Given the description of an element on the screen output the (x, y) to click on. 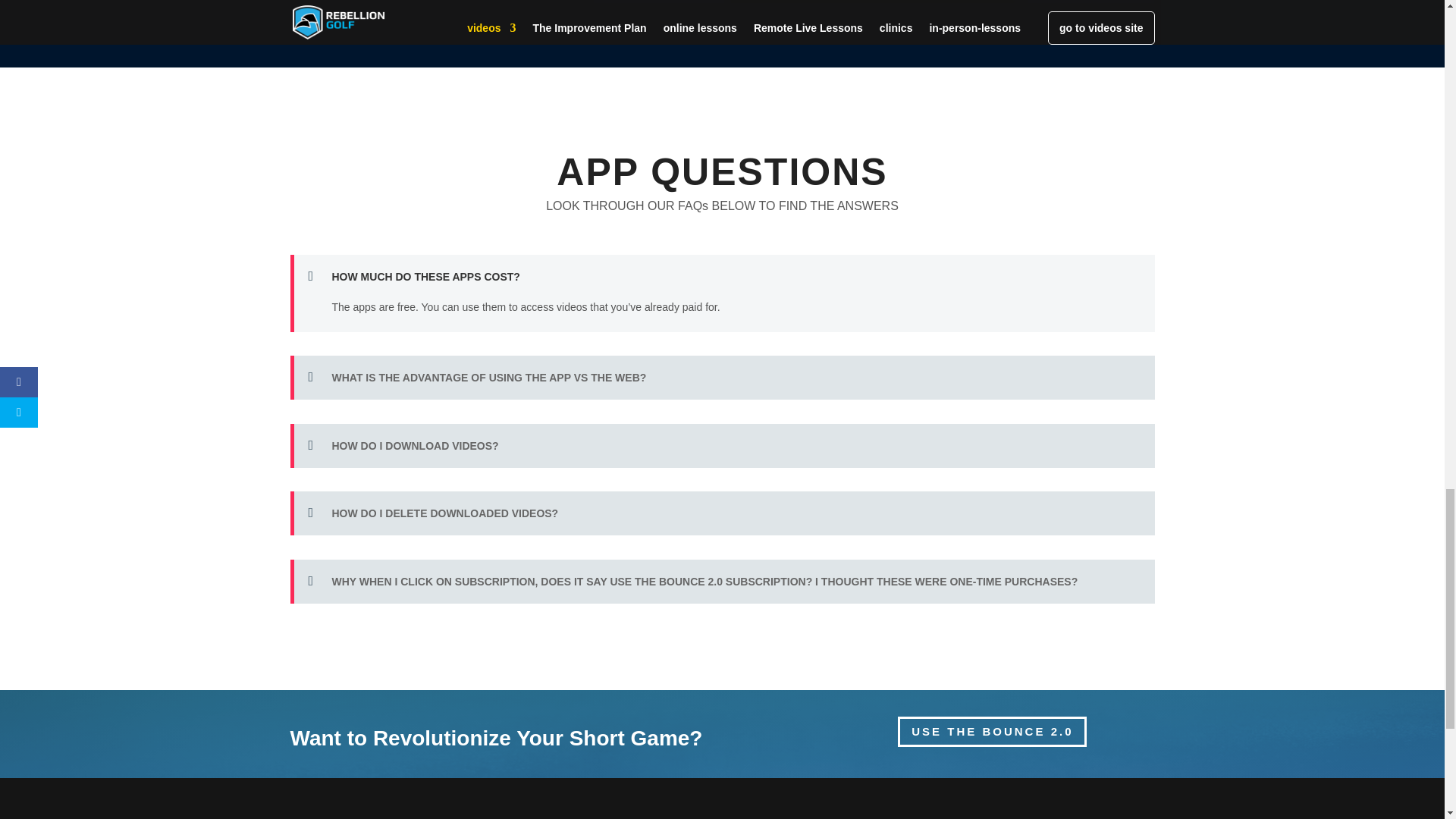
USE THE BOUNCE 2.0 (992, 731)
